Given the description of an element on the screen output the (x, y) to click on. 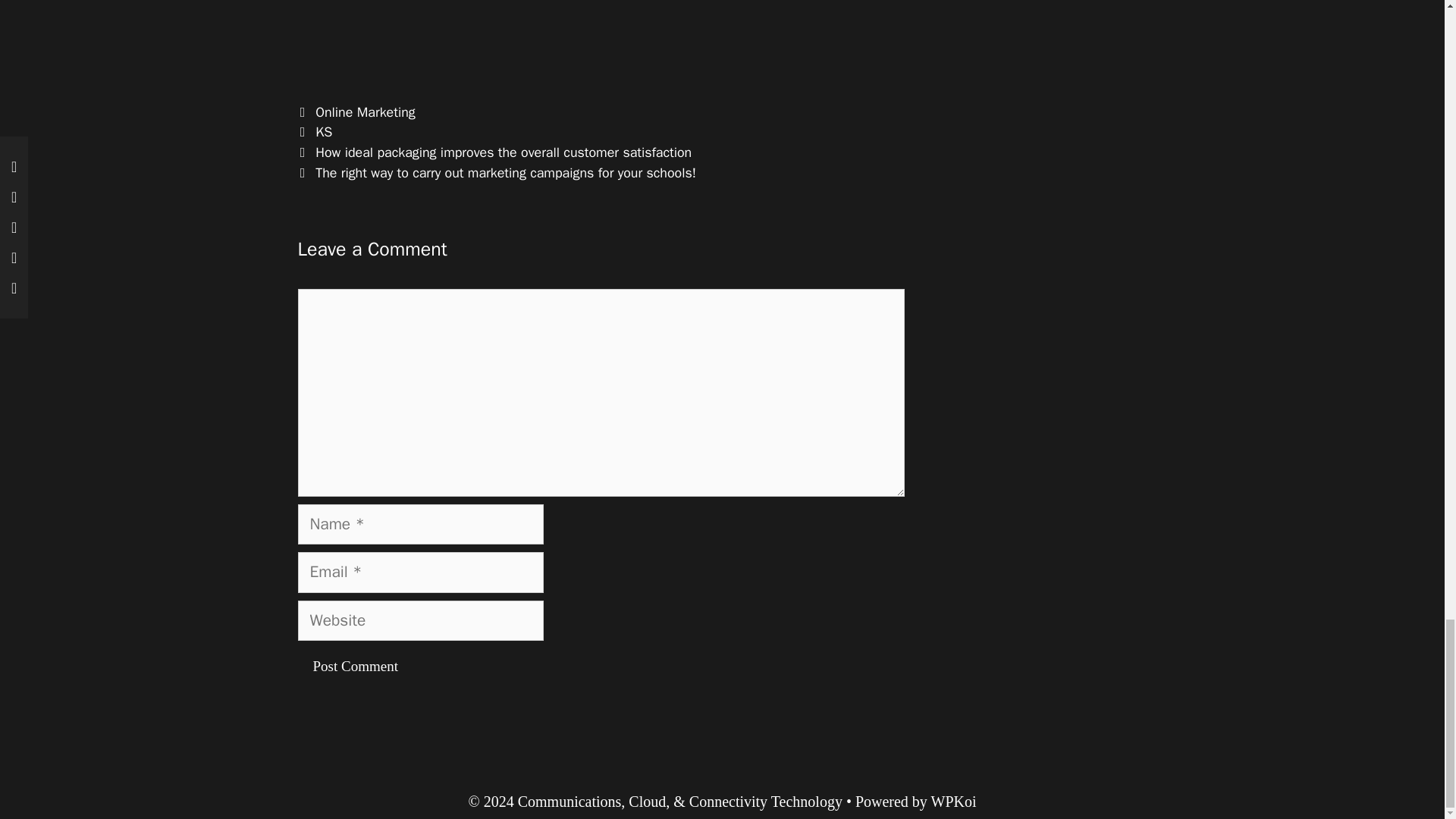
KS (323, 131)
Online Marketing (364, 112)
WPKoi (953, 801)
Post Comment (354, 666)
Next (496, 172)
Previous (494, 152)
Post Comment (354, 666)
